Given the description of an element on the screen output the (x, y) to click on. 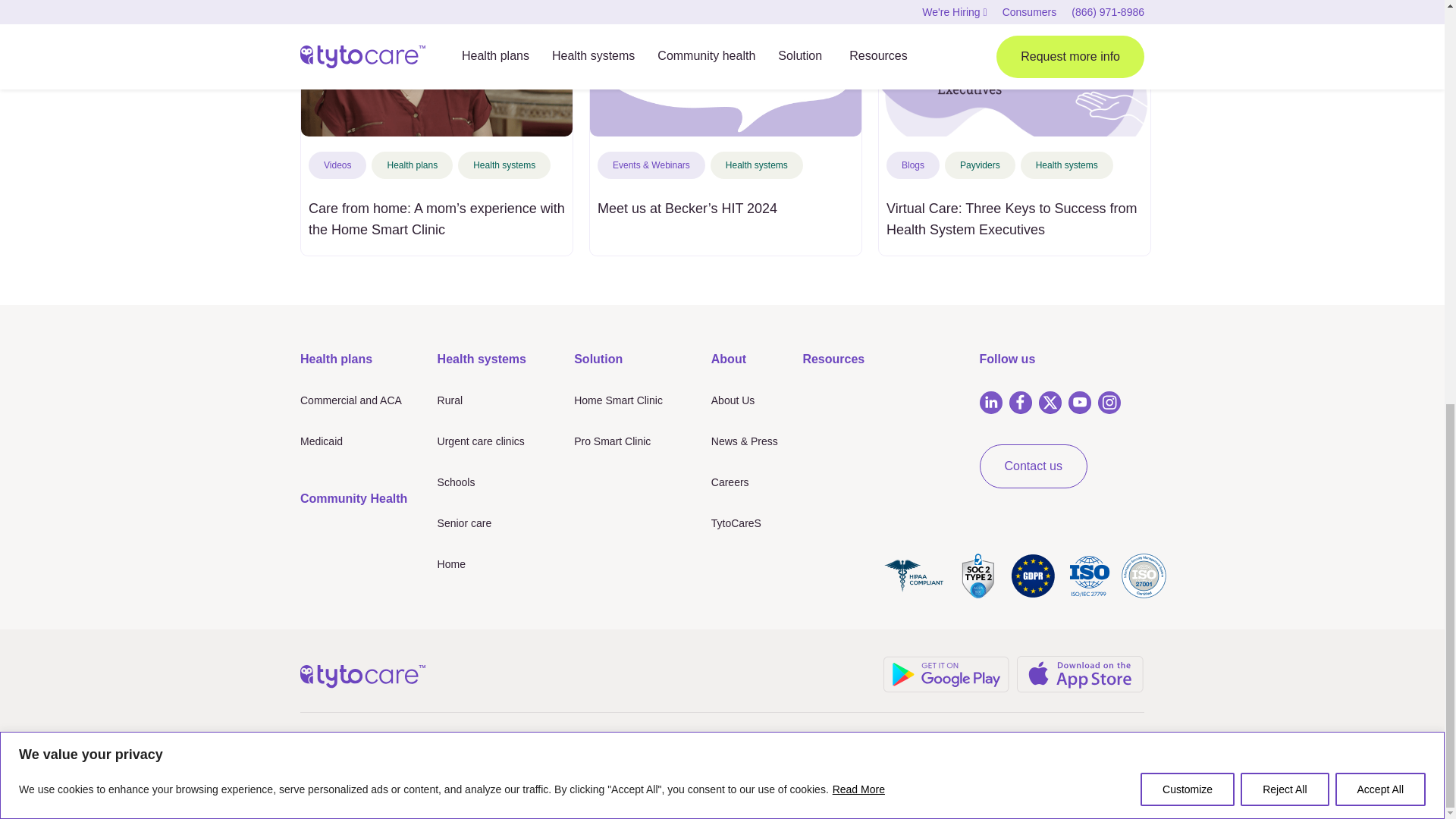
appstore-1 (1079, 673)
Accept All (1380, 3)
googleplay-1 (946, 673)
Reject All (1283, 3)
Customize (1187, 3)
